Given the description of an element on the screen output the (x, y) to click on. 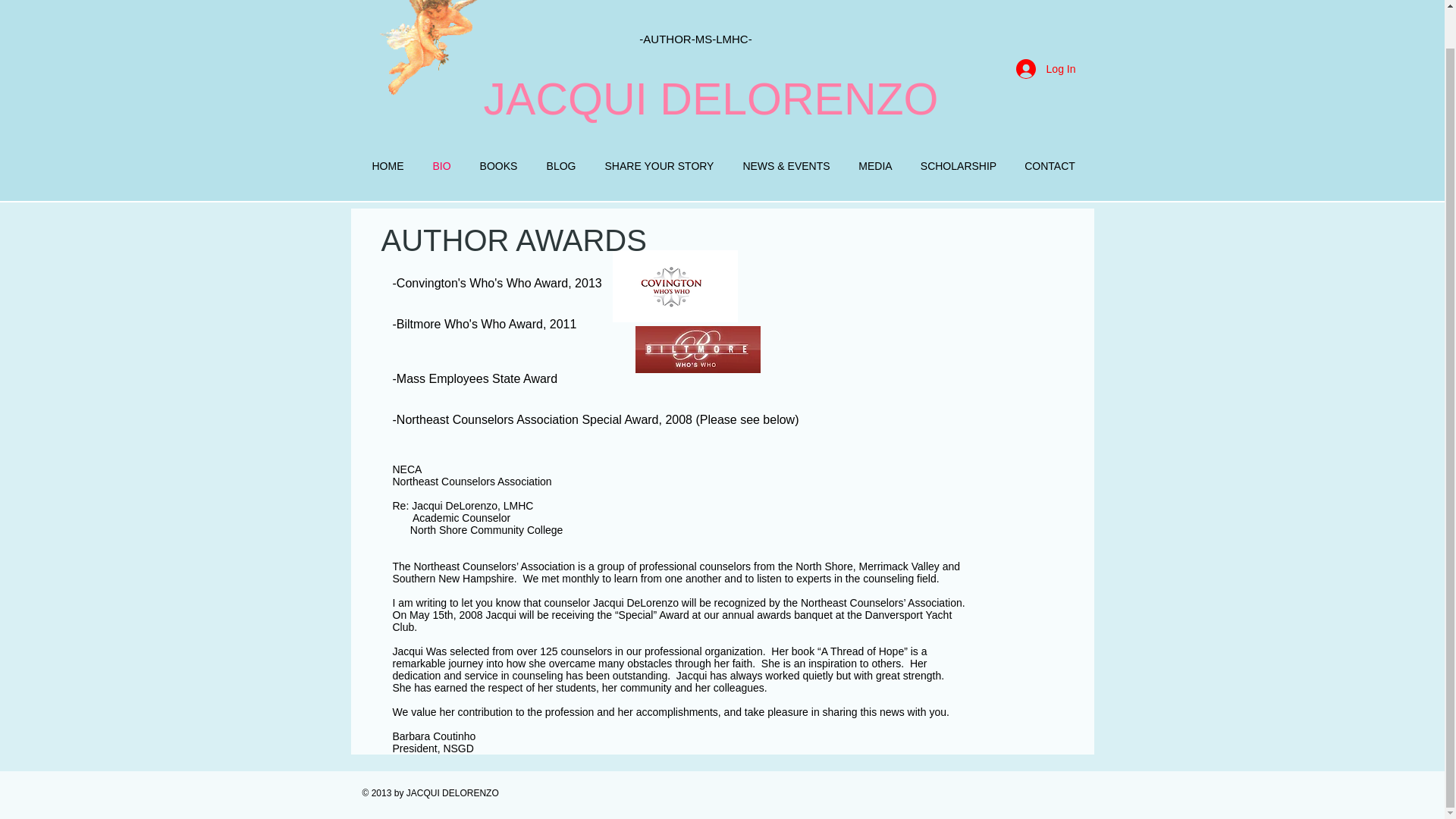
SCHOLARSHIP (958, 166)
angel5.gif (430, 48)
JACQUI DELORENZO (711, 99)
BIO (442, 166)
SHARE YOUR STORY (658, 166)
BOOKS (498, 166)
-Biltmore Who's Who Award, 2011 (484, 323)
MEDIA (875, 166)
CONTACT (1049, 166)
BLOG (561, 166)
LOGO1.png (675, 286)
Log In (1046, 68)
HOME (388, 166)
